Given the description of an element on the screen output the (x, y) to click on. 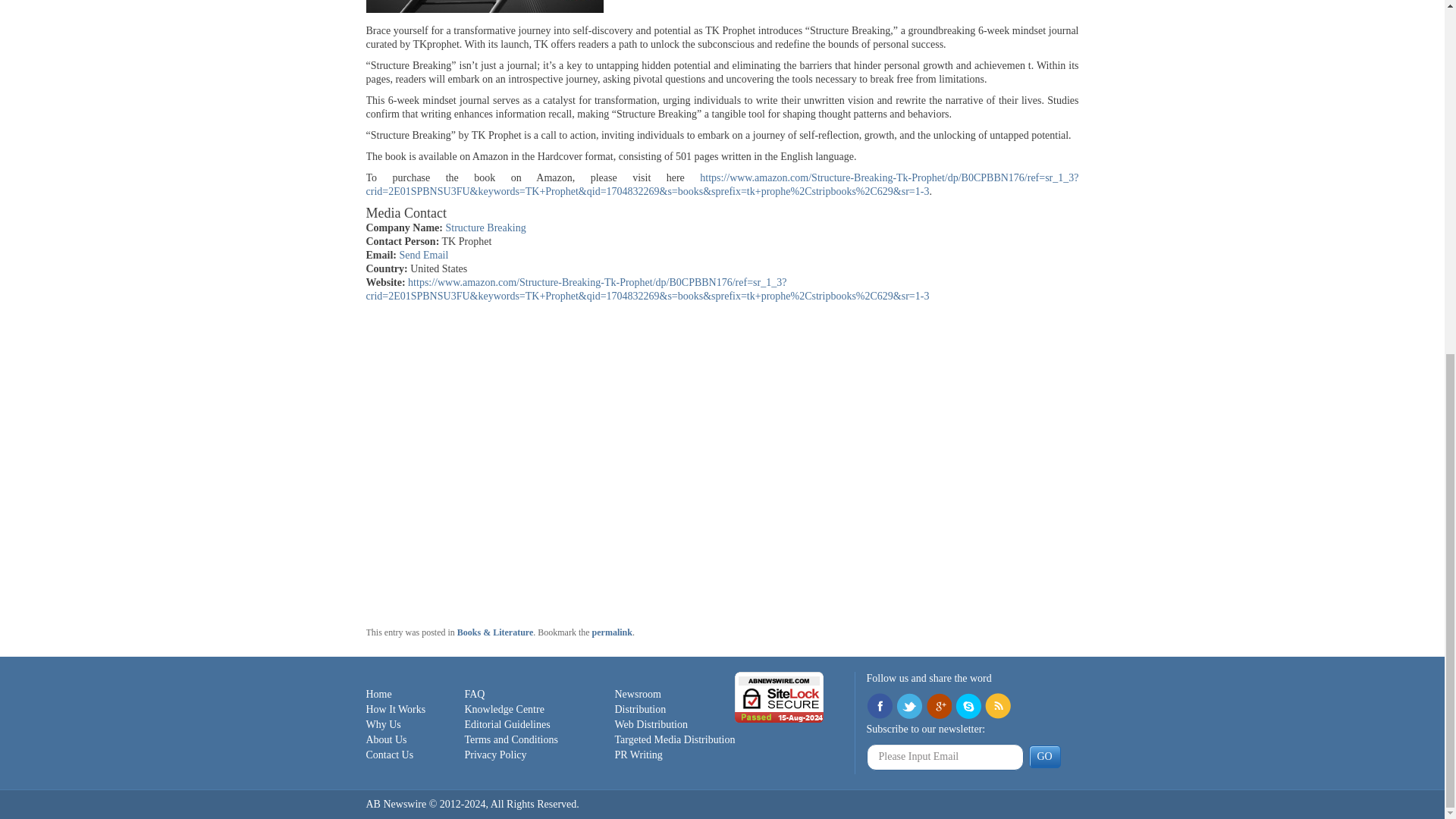
GO (1043, 756)
SiteLock (779, 696)
Please Input Email (944, 756)
